Given the description of an element on the screen output the (x, y) to click on. 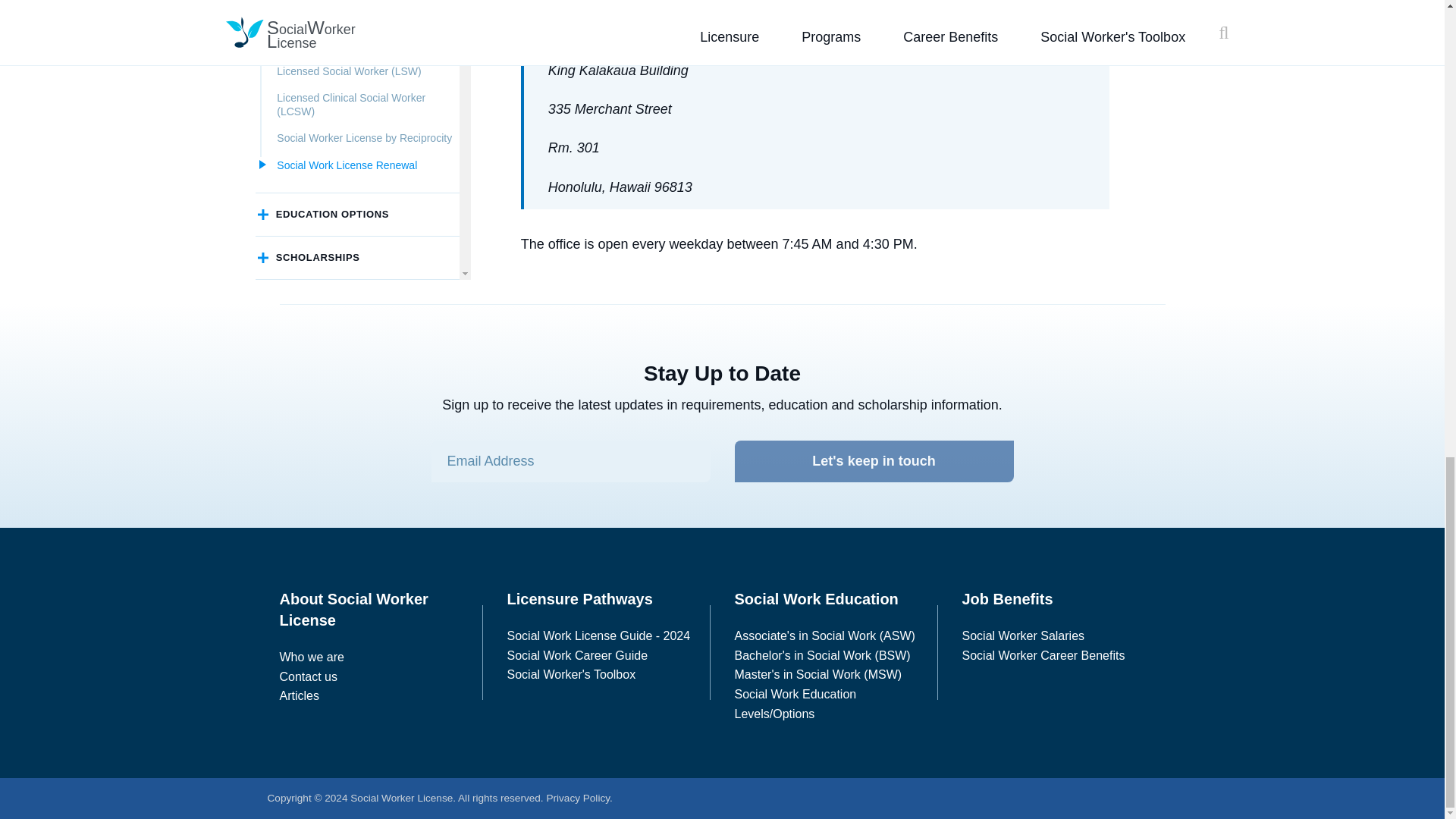
Let's keep in touch (873, 461)
